Given the description of an element on the screen output the (x, y) to click on. 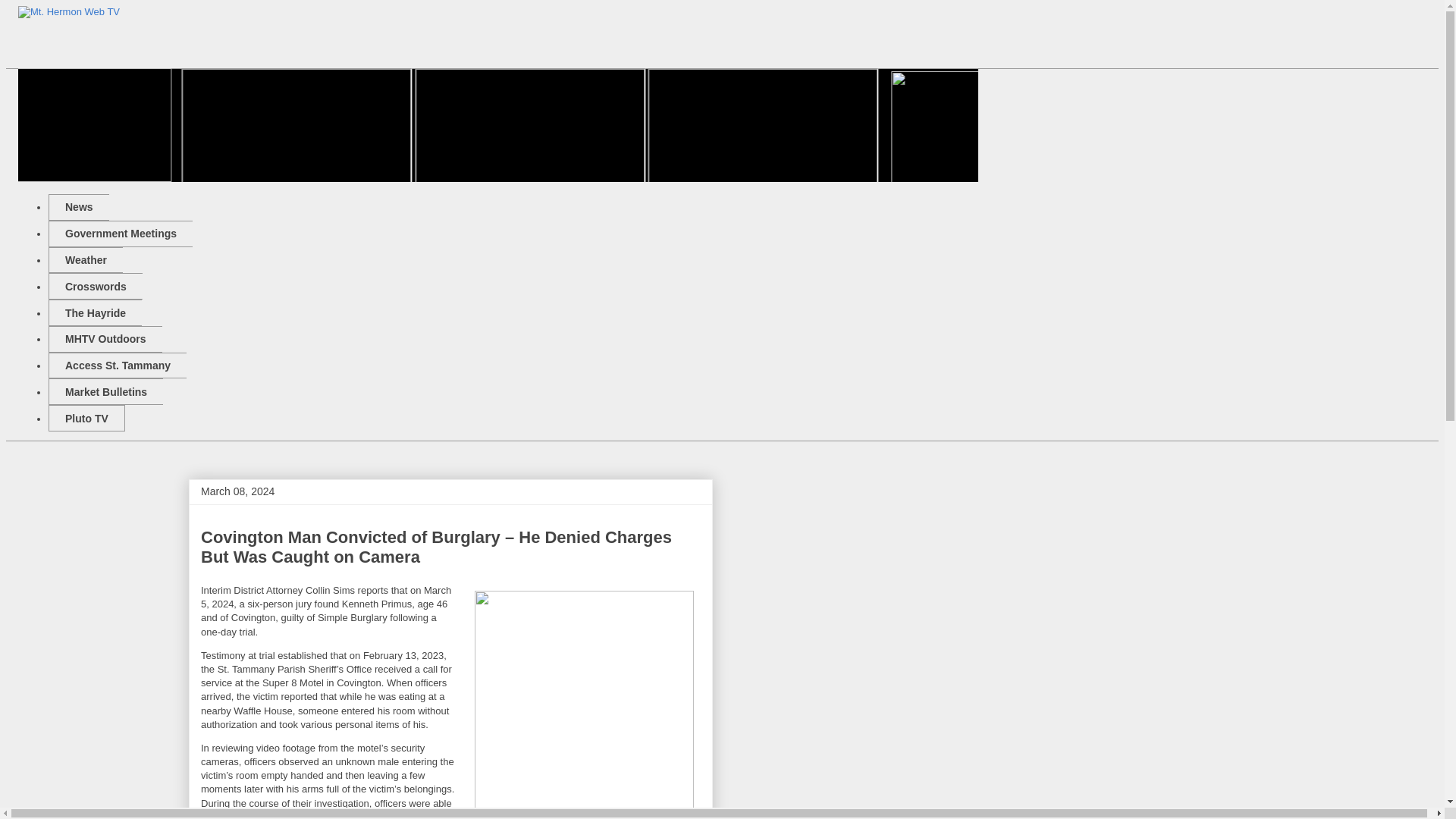
News (78, 207)
Weather (85, 260)
MHTV Outdoors (104, 338)
The Hayride (94, 312)
Pluto TV (86, 417)
Access St. Tammany (117, 365)
Crosswords (95, 285)
Market Bulletins (105, 391)
Government Meetings (120, 233)
